Given the description of an element on the screen output the (x, y) to click on. 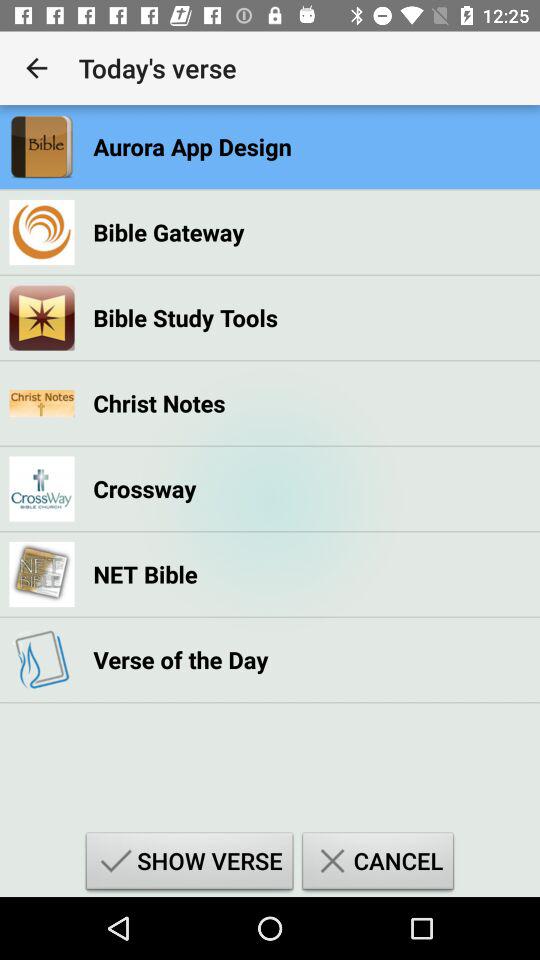
open icon to the right of show verse (377, 863)
